Given the description of an element on the screen output the (x, y) to click on. 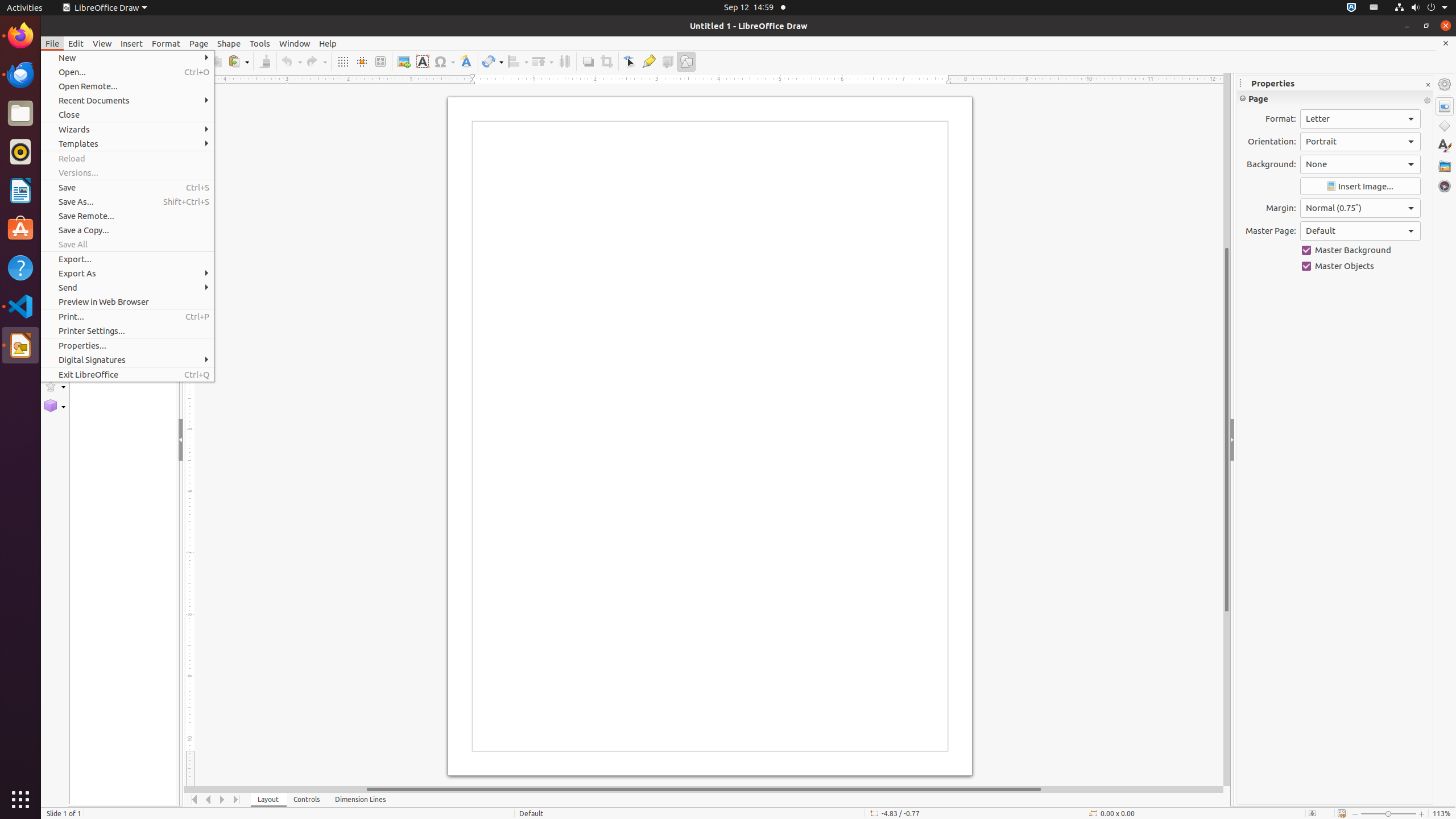
Print... Element type: menu-item (127, 316)
Open Remote... Element type: menu-item (127, 86)
Align Element type: push-button (517, 61)
Close Element type: menu-item (127, 114)
Layout Element type: page-tab (268, 799)
